Given the description of an element on the screen output the (x, y) to click on. 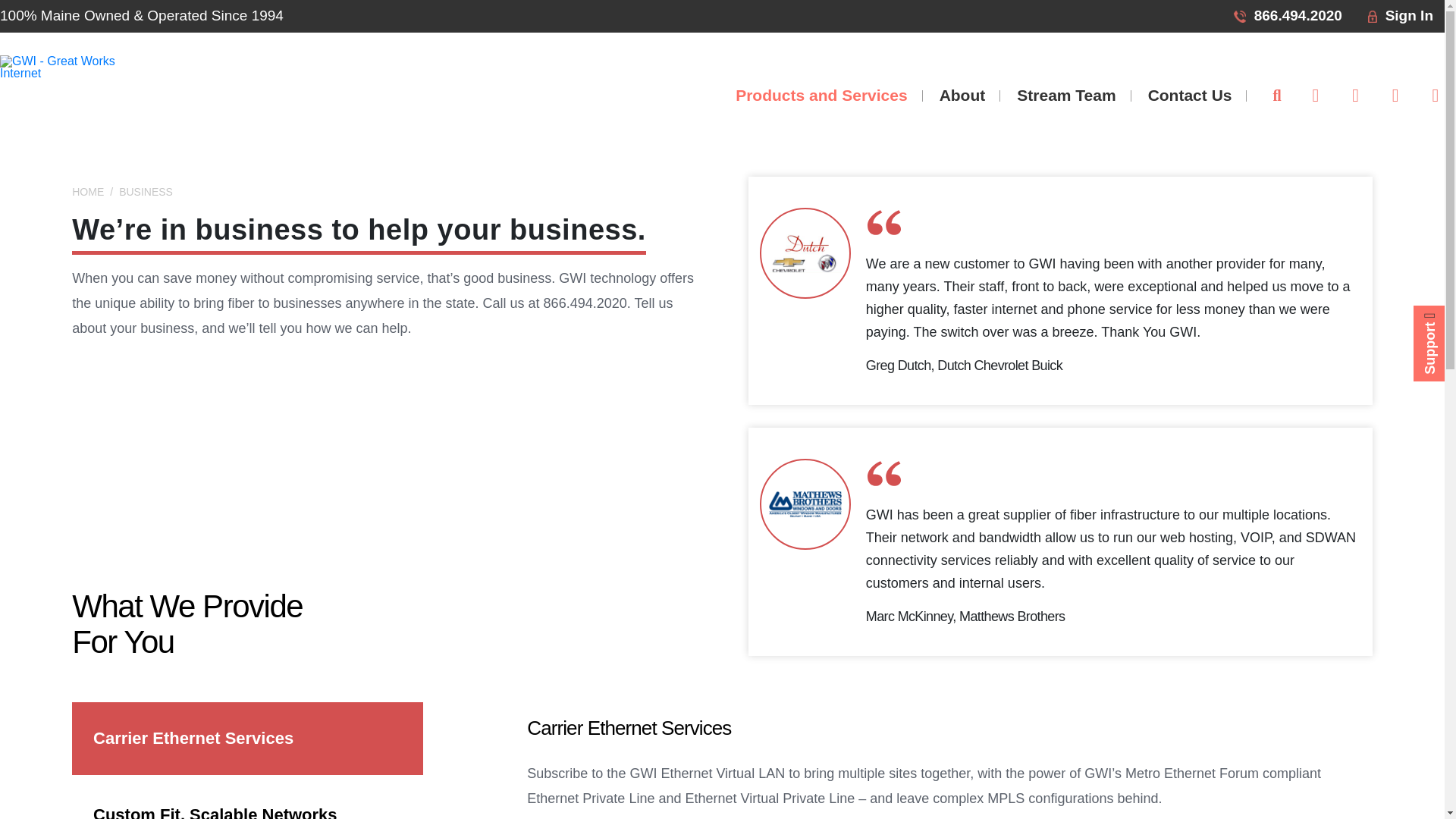
Products and Services (821, 94)
Contact Us (1189, 94)
About (962, 94)
HOME (87, 192)
Carrier Ethernet Services (247, 737)
Stream Team (1066, 94)
Custom Fit, Scalable Networks (247, 798)
You Are Here (146, 192)
BUSINESS (146, 192)
866.494.2020 (1288, 16)
